Given the description of an element on the screen output the (x, y) to click on. 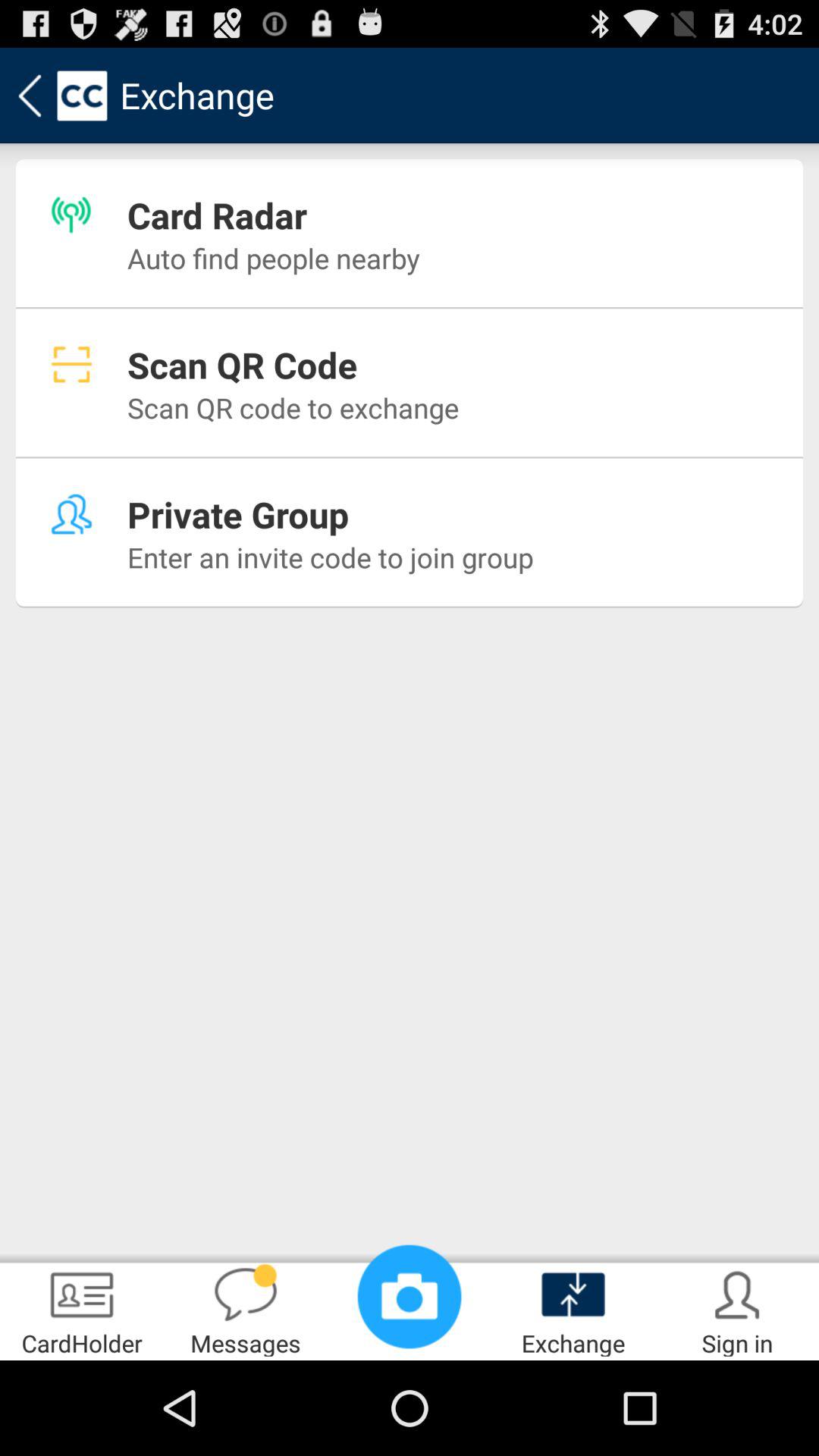
launch the icon below enter an invite app (245, 1309)
